Given the description of an element on the screen output the (x, y) to click on. 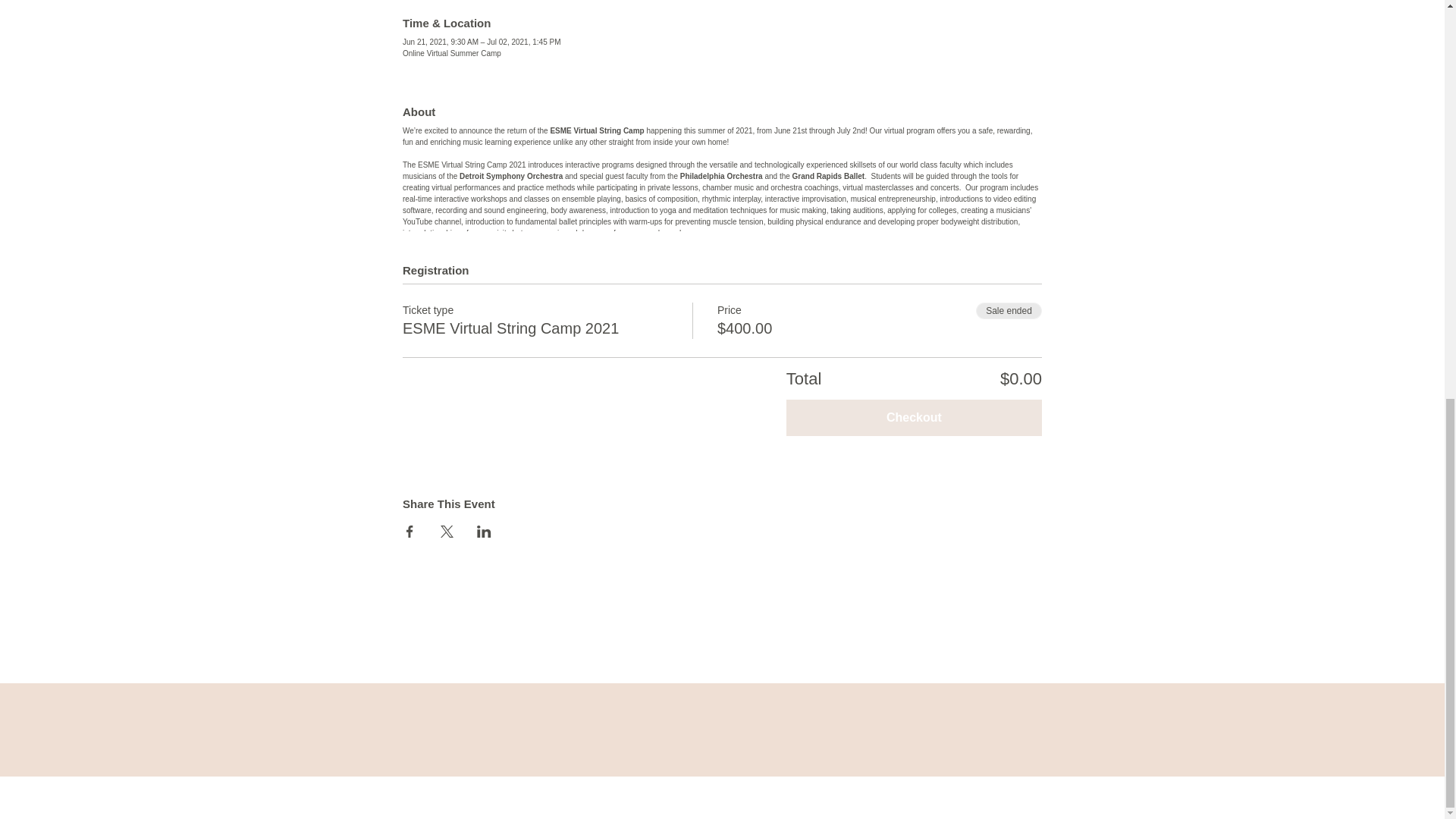
Checkout (914, 417)
